Given the description of an element on the screen output the (x, y) to click on. 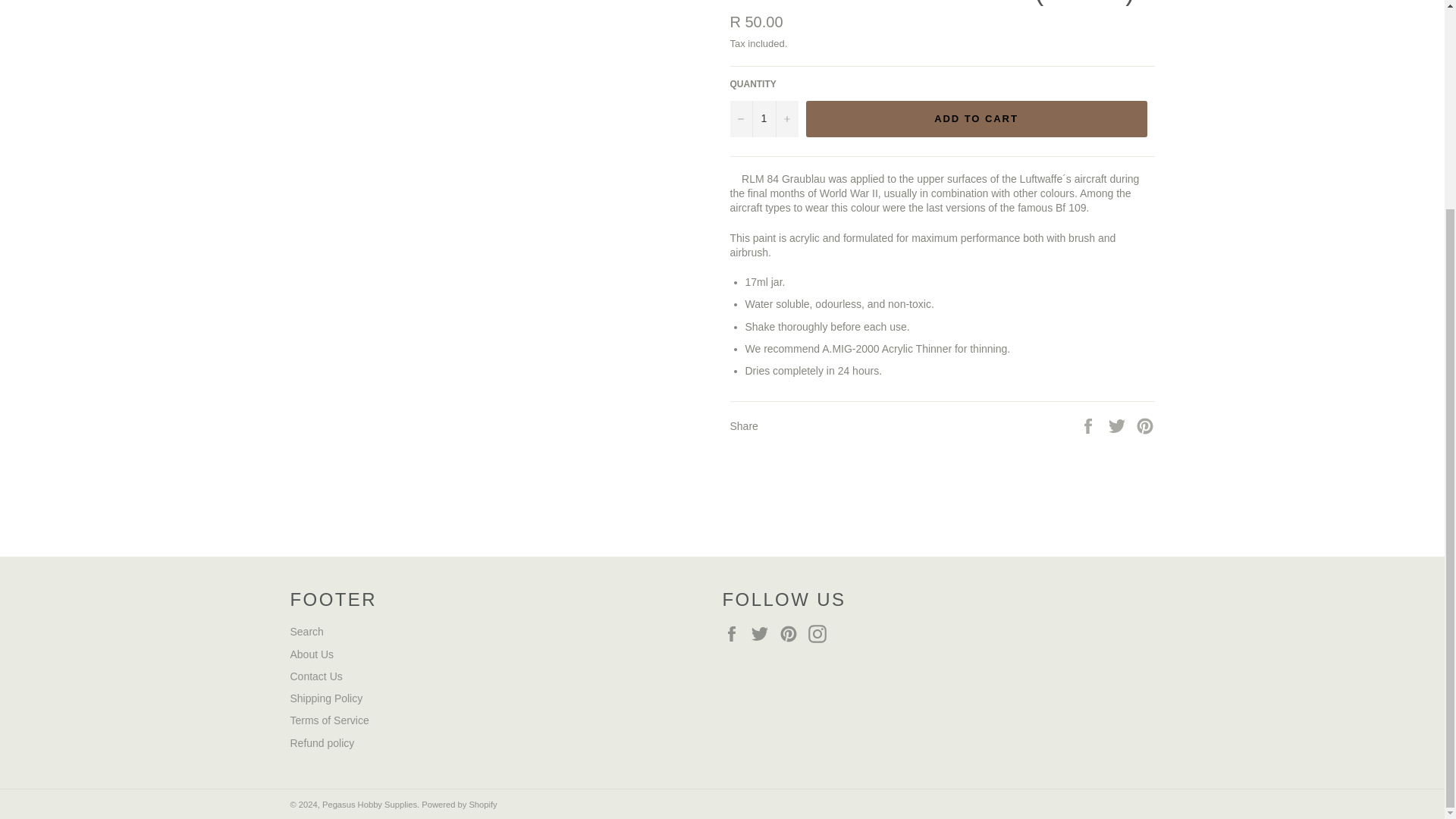
ADD TO CART (976, 118)
Twitter (763, 633)
1 (763, 118)
Facebook (735, 633)
Shipping Policy (325, 698)
Pegasus Hobby Supplies on Twitter (763, 633)
Pegasus Hobby Supplies on Pinterest (791, 633)
Refund policy (321, 743)
Search (306, 631)
Tweet on Twitter (1118, 425)
